Given the description of an element on the screen output the (x, y) to click on. 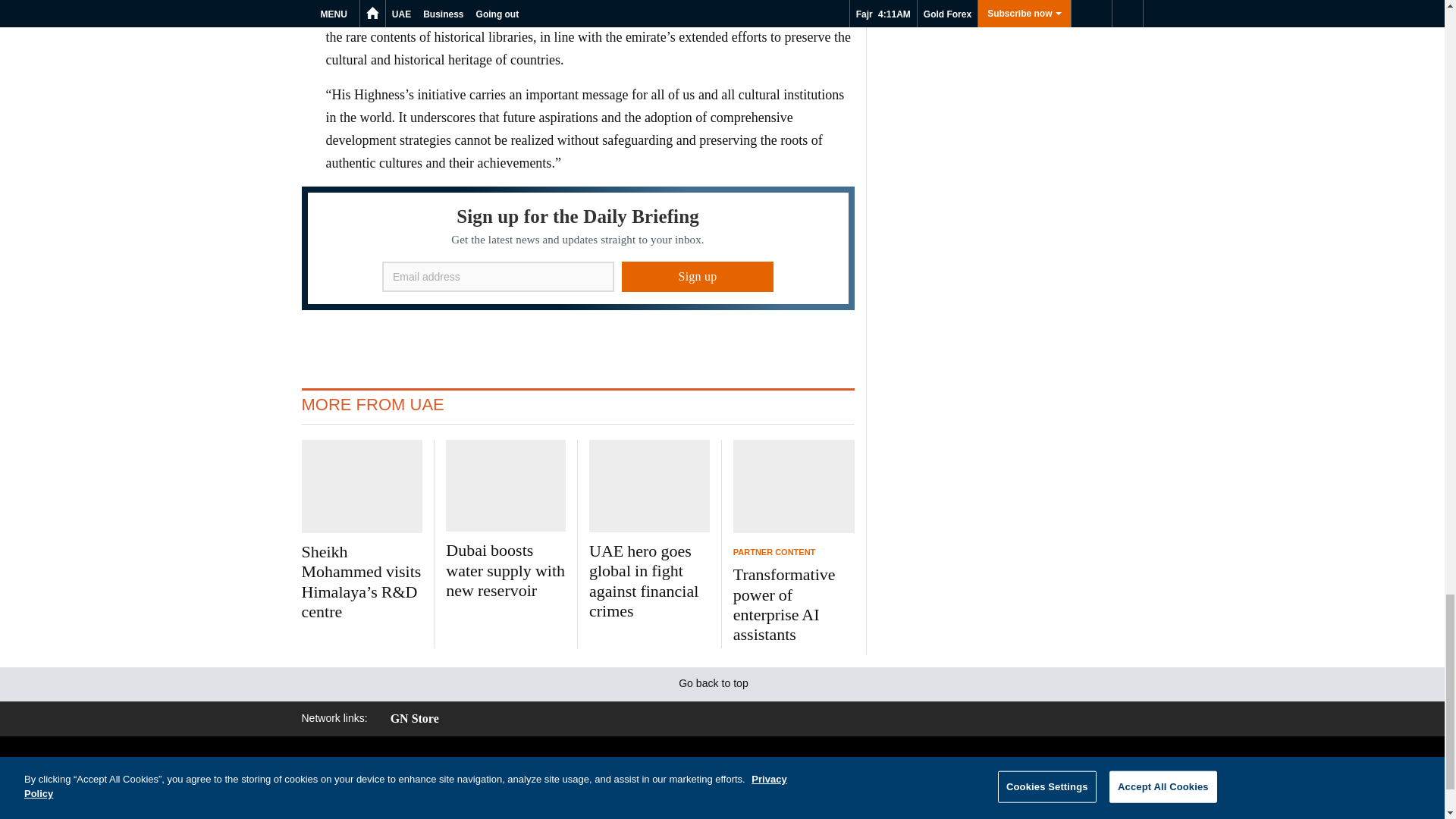
Sign up for the Daily Briefing (577, 248)
